Given the description of an element on the screen output the (x, y) to click on. 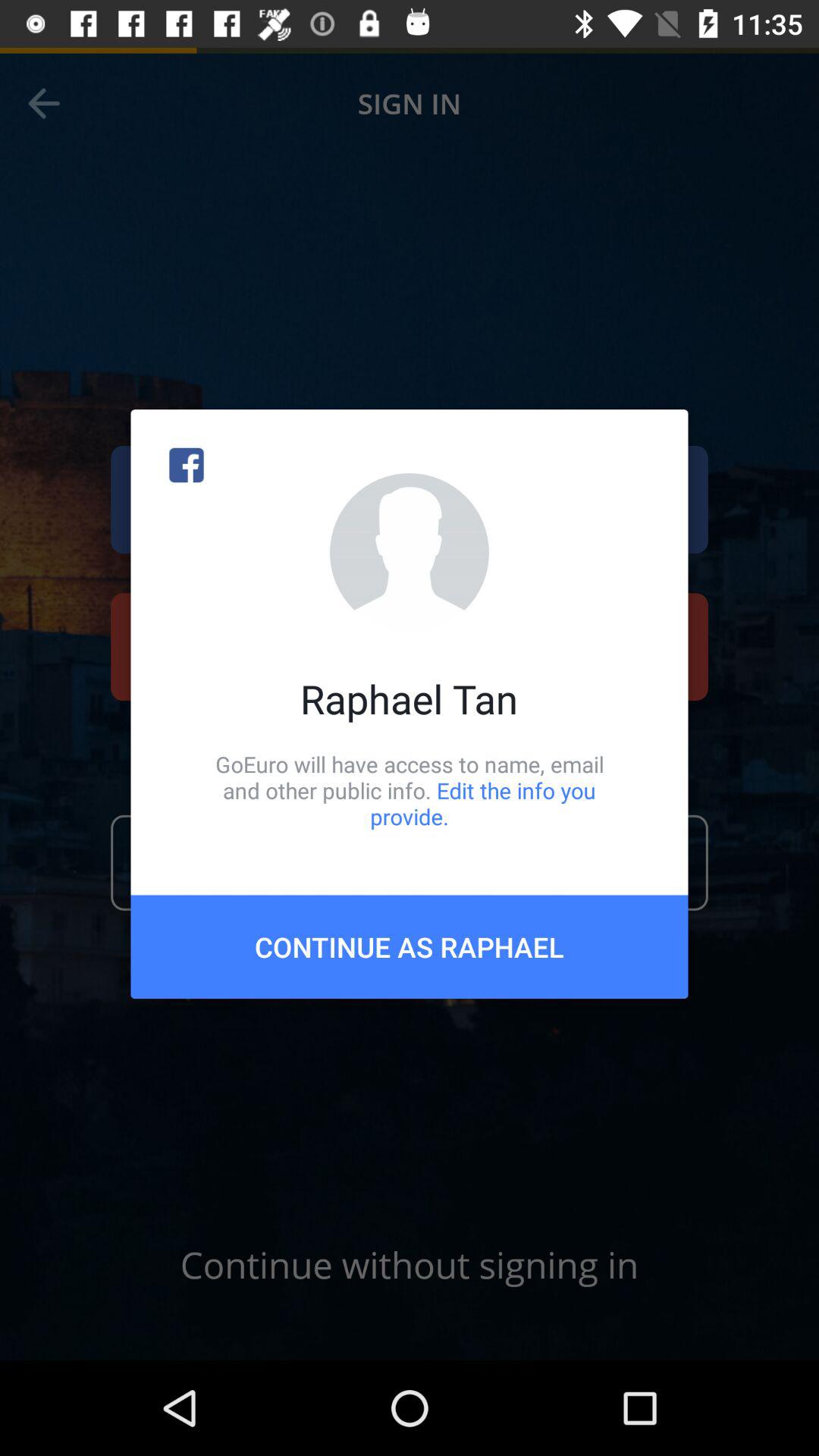
press the item above continue as raphael (409, 790)
